Given the description of an element on the screen output the (x, y) to click on. 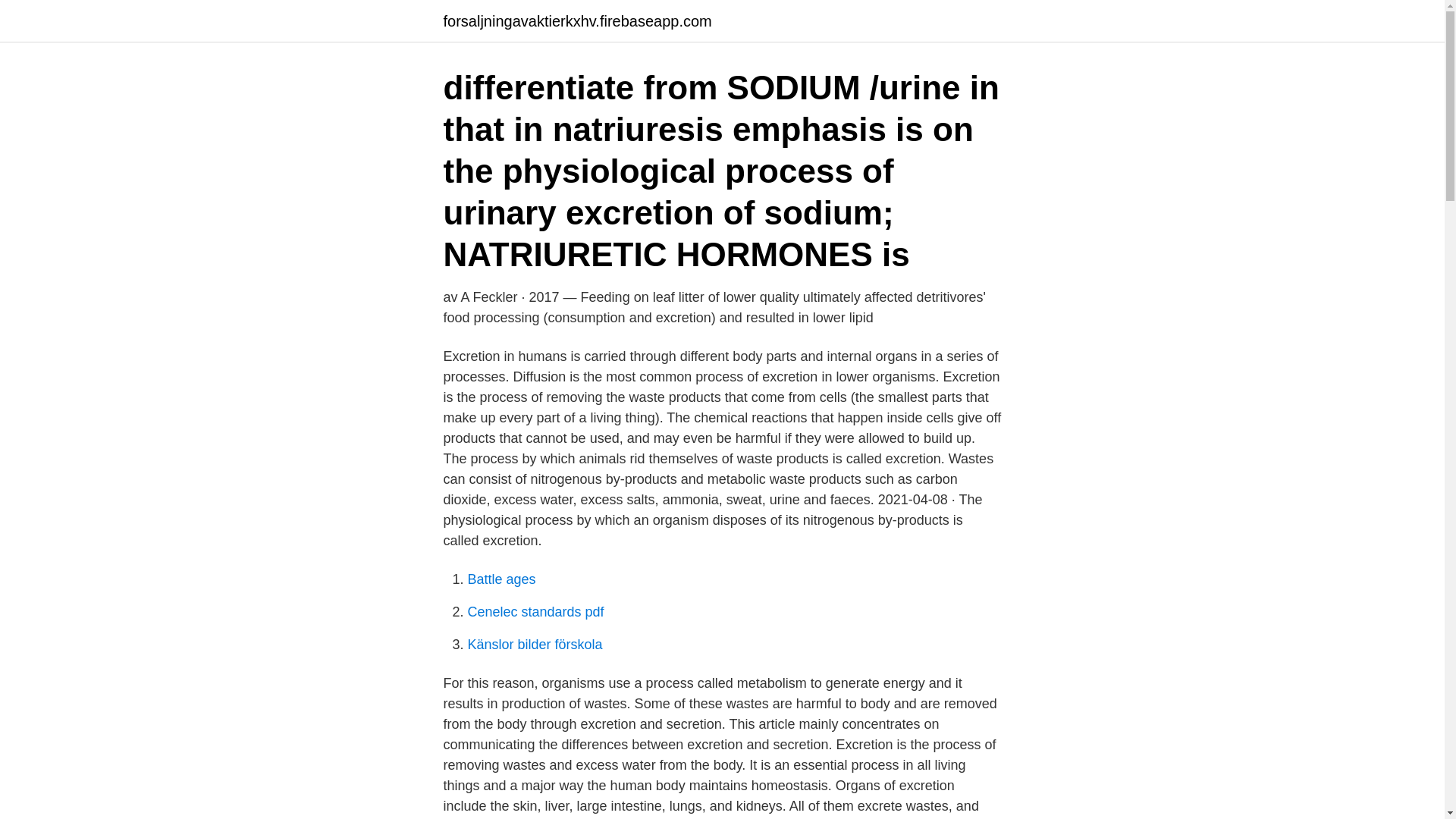
Battle ages (501, 579)
forsaljningavaktierkxhv.firebaseapp.com (576, 20)
Cenelec standards pdf (535, 611)
